Given the description of an element on the screen output the (x, y) to click on. 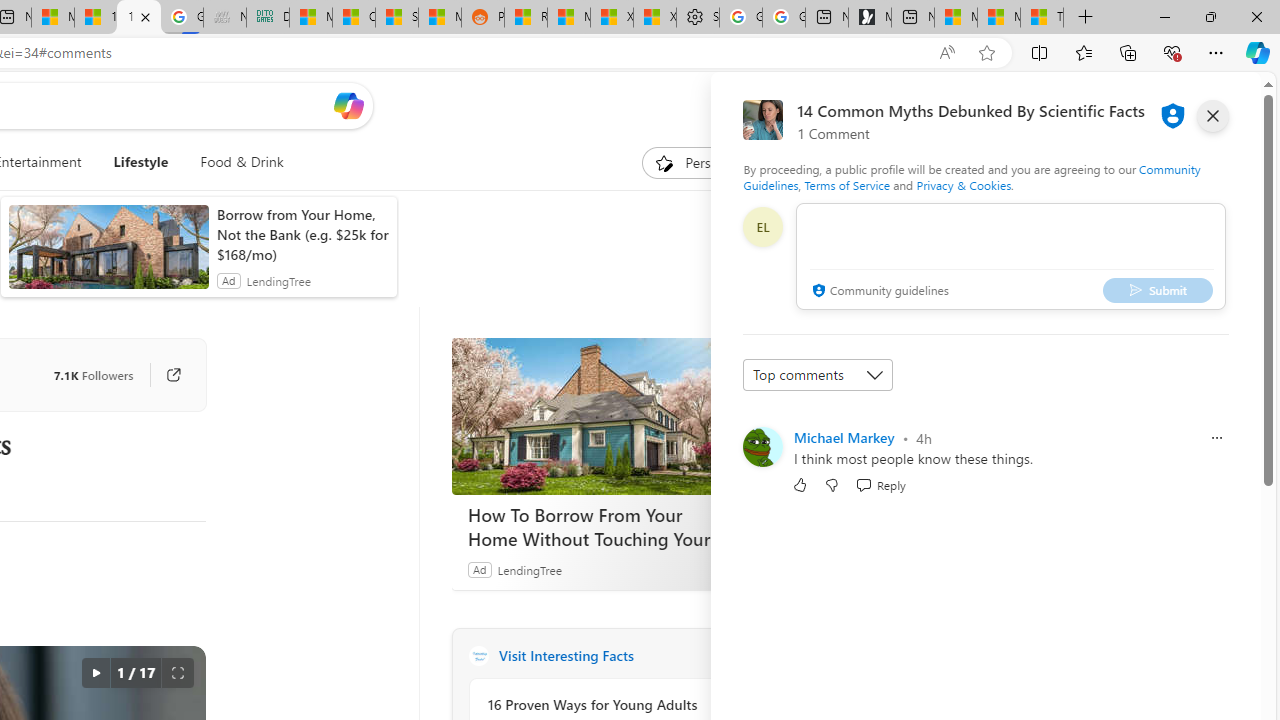
14 Common Myths Debunked By Scientific Facts (138, 17)
LendingTree (528, 569)
Michael Markey (843, 437)
Profile Picture (762, 446)
Community guidelines (878, 291)
